Given the description of an element on the screen output the (x, y) to click on. 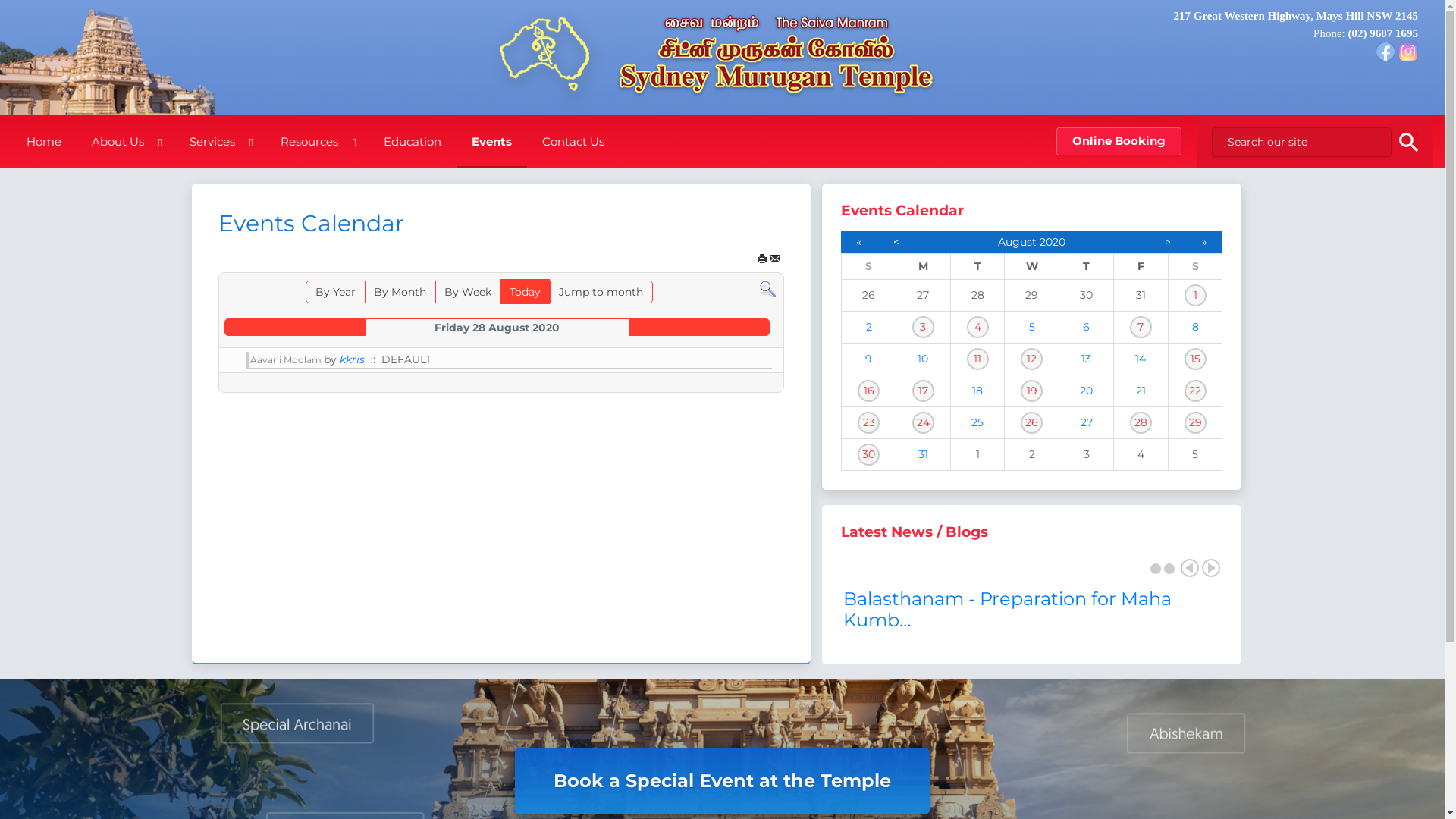
18 Element type: text (977, 390)
2 Element type: text (1169, 568)
Online Booking Element type: text (1118, 141)
25 Element type: text (977, 422)
21 Element type: text (1140, 390)
26 Element type: text (1031, 422)
29 Element type: text (1195, 422)
Aavani Moolam Element type: text (286, 359)
Contact Us Element type: text (573, 141)
8 Element type: text (1195, 326)
7 Element type: text (1140, 327)
11 Element type: text (977, 359)
17 Element type: text (923, 390)
13 Element type: text (1086, 358)
Events Element type: text (491, 141)
14 Element type: text (1140, 358)
22 Element type: text (1195, 390)
6 Element type: text (1085, 326)
Education Element type: text (412, 141)
By Month Element type: text (399, 291)
(02) 9687 1695 Element type: text (1382, 33)
Resources Element type: text (316, 141)
12 Element type: text (1031, 359)
By Week Element type: text (467, 291)
15 Element type: text (1195, 359)
31 Element type: text (923, 454)
Prev Element type: text (1189, 567)
2020 Element type: text (1052, 241)
30 Element type: text (868, 454)
kkris Element type: text (351, 359)
Services Element type: text (219, 141)
1 Element type: text (1195, 295)
23 Element type: text (868, 422)
28 Element type: text (1140, 422)
27 Element type: text (1086, 422)
August Element type: text (1016, 241)
Today Element type: text (524, 291)
About Us Element type: text (125, 141)
2 Element type: text (869, 326)
24 Element type: text (923, 422)
EMAIL Element type: hover (774, 259)
19 Element type: text (1031, 390)
4 Element type: text (977, 327)
By Year Element type: text (335, 291)
Jump to month Element type: text (600, 291)
20 Element type: text (1085, 390)
9 Element type: text (868, 358)
Search Element type: hover (767, 287)
10 Element type: text (922, 358)
Next Element type: text (1210, 567)
Book a Special Event at the Temple Element type: text (721, 780)
Home Element type: text (43, 141)
5 Element type: text (1032, 326)
217 Great Western Highway, Mays Hill NSW 2145 Element type: text (1295, 15)
3 Element type: text (923, 327)
Print Element type: hover (761, 259)
16 Element type: text (868, 390)
1 Element type: text (1155, 568)
